Given the description of an element on the screen output the (x, y) to click on. 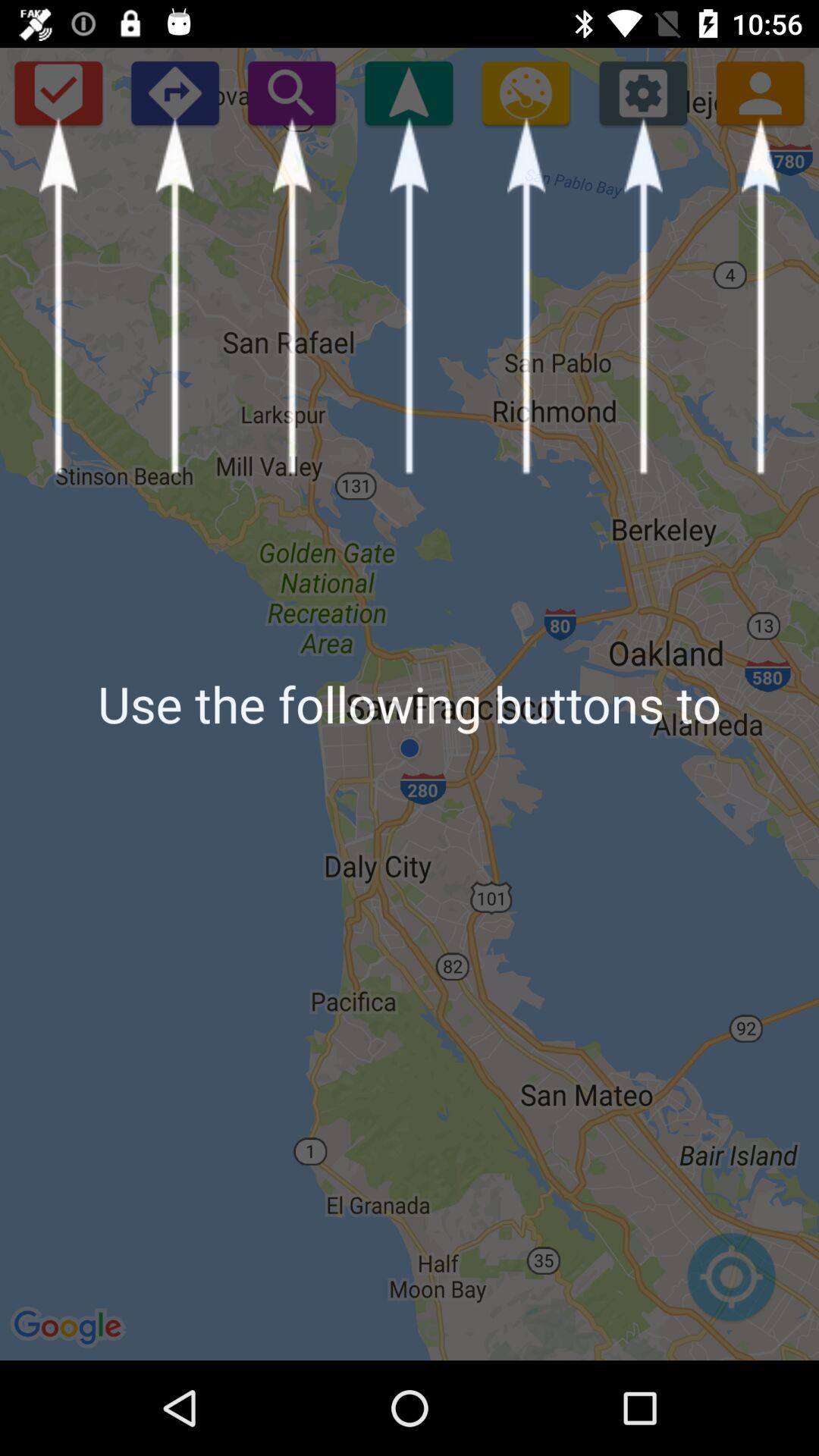
check settings (642, 92)
